Given the description of an element on the screen output the (x, y) to click on. 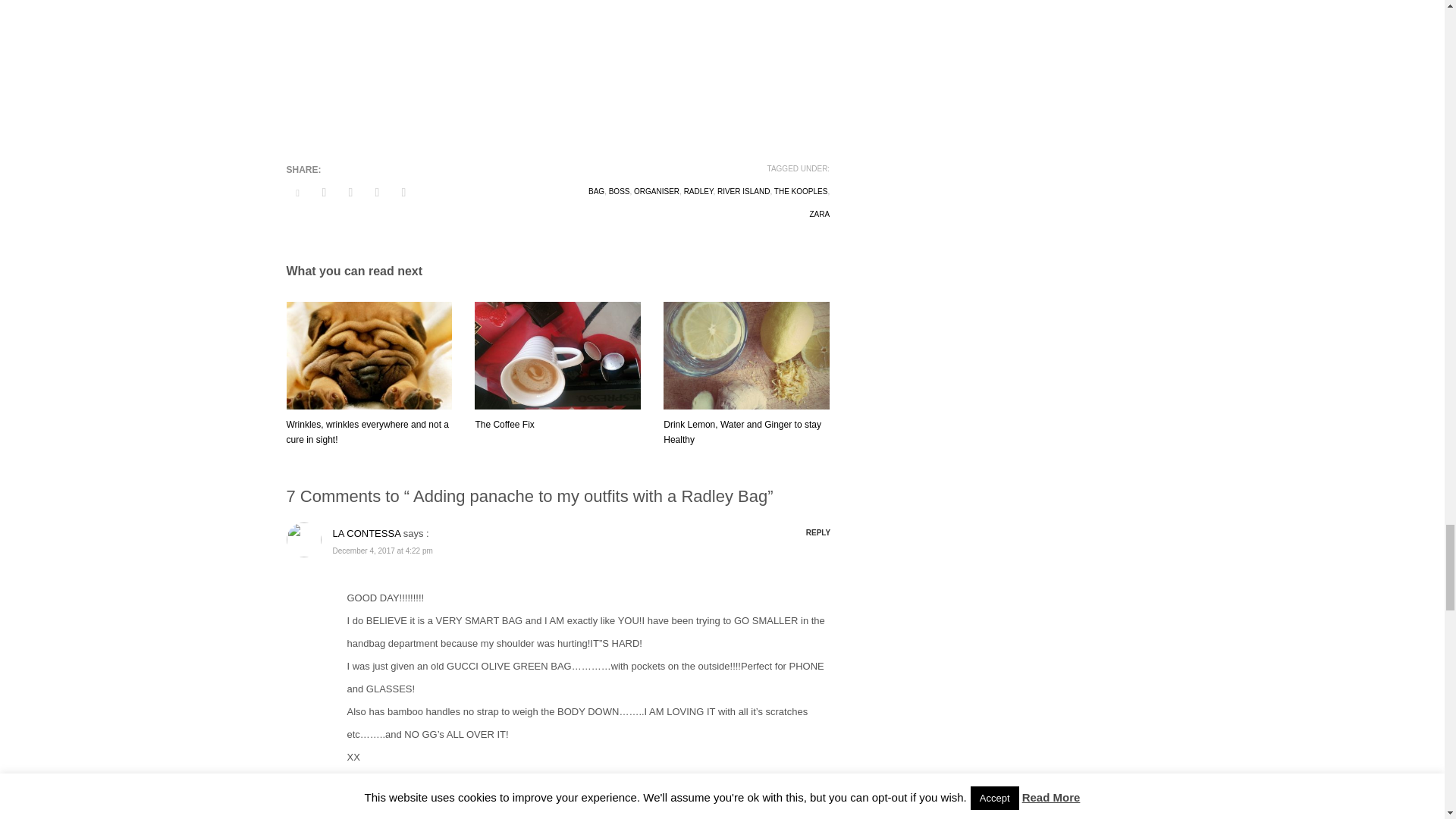
ORGANISER (656, 191)
Coffee shot (557, 355)
ZARA (819, 213)
lemon and ginger (746, 355)
SHARE ON FACEBOOK (323, 191)
RADLEY (698, 191)
Wrinkles, wrinkles everywhere and not a cure in sight! (367, 432)
The Coffee Fix (504, 424)
THE KOOPLES (801, 191)
RIVER ISLAND (743, 191)
